Given the description of an element on the screen output the (x, y) to click on. 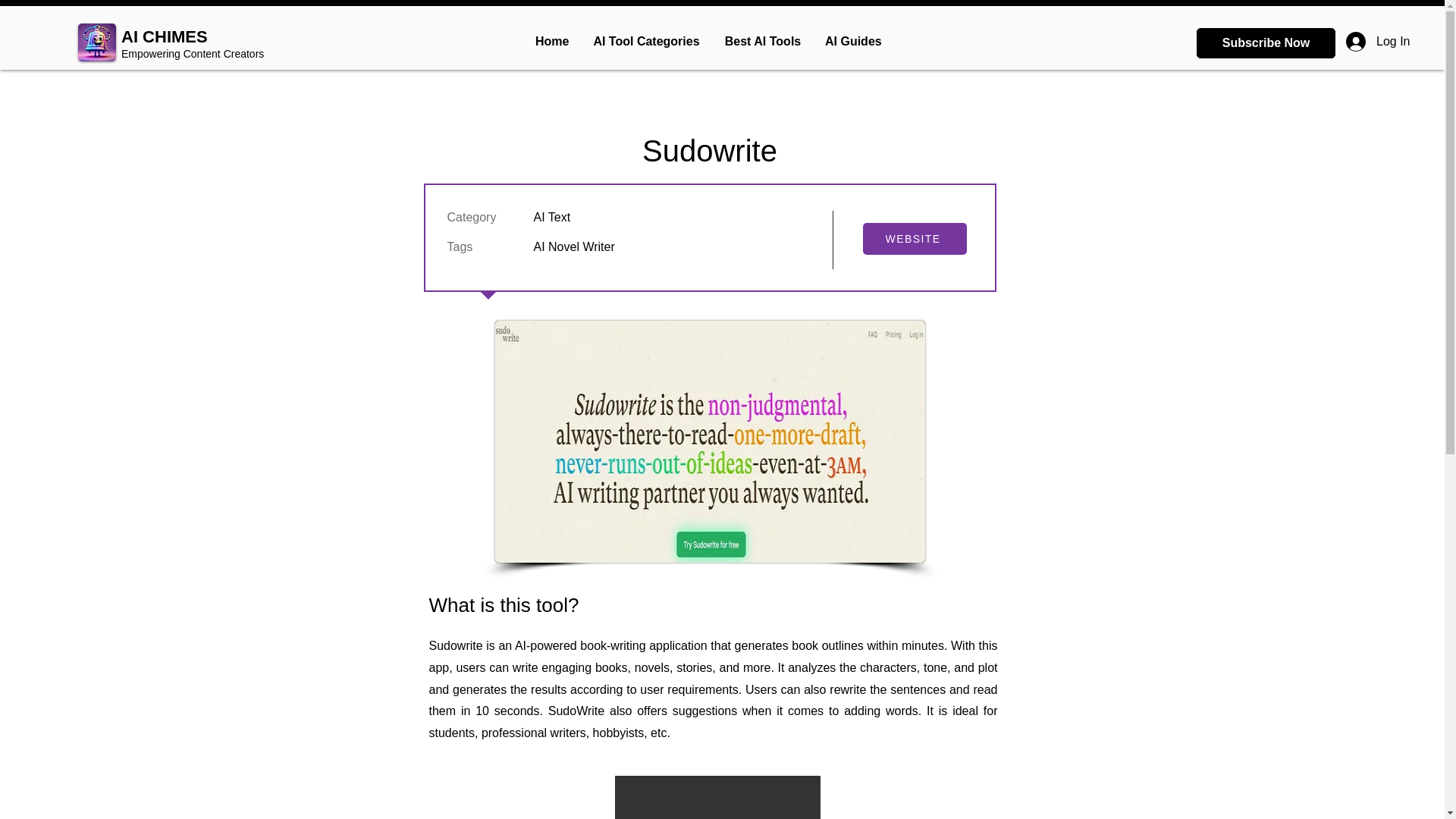
WEBSITE (914, 238)
Subscribe Now (1265, 42)
AI Tool Categories (645, 41)
Log In (1351, 41)
AI Guides (851, 41)
Home (550, 41)
AI CHIMES (164, 36)
Sudowrite.jpg (709, 441)
Best AI Tools (761, 41)
